Given the description of an element on the screen output the (x, y) to click on. 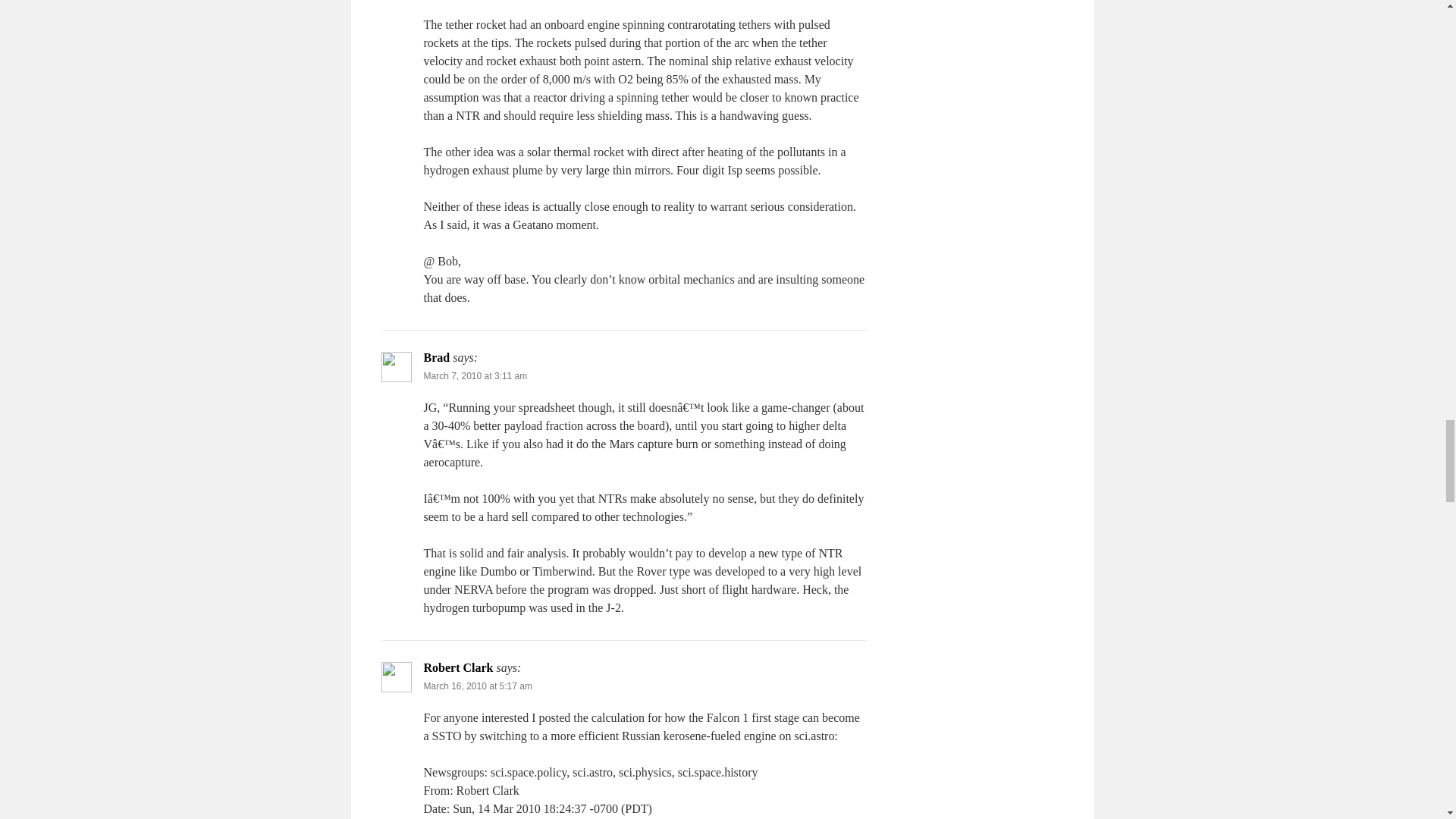
March 7, 2010 at 3:11 am (475, 376)
March 16, 2010 at 5:17 am (477, 685)
